Given the description of an element on the screen output the (x, y) to click on. 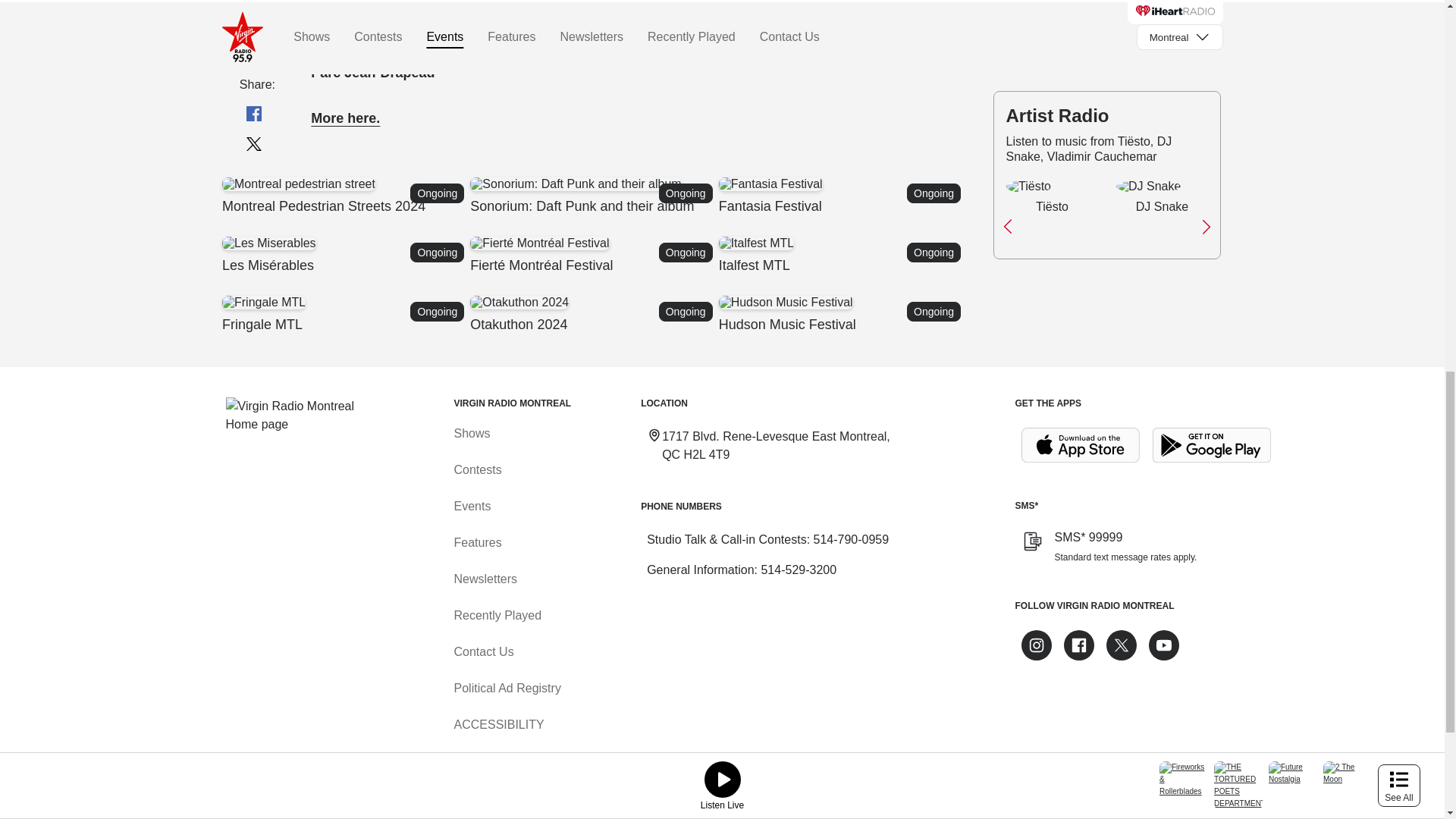
Italfest MTL (593, 196)
Montreal pedestrian street (755, 243)
Hudson Music Festival (297, 183)
Sonorium: Daft Punk and their album (344, 196)
Montreal Pedestrian Streets 2024 (841, 314)
Sonorium: Daft Punk and their album (593, 196)
Fantasia Festival (344, 196)
More here. (575, 183)
Otakuthon 2024 (769, 183)
